Given the description of an element on the screen output the (x, y) to click on. 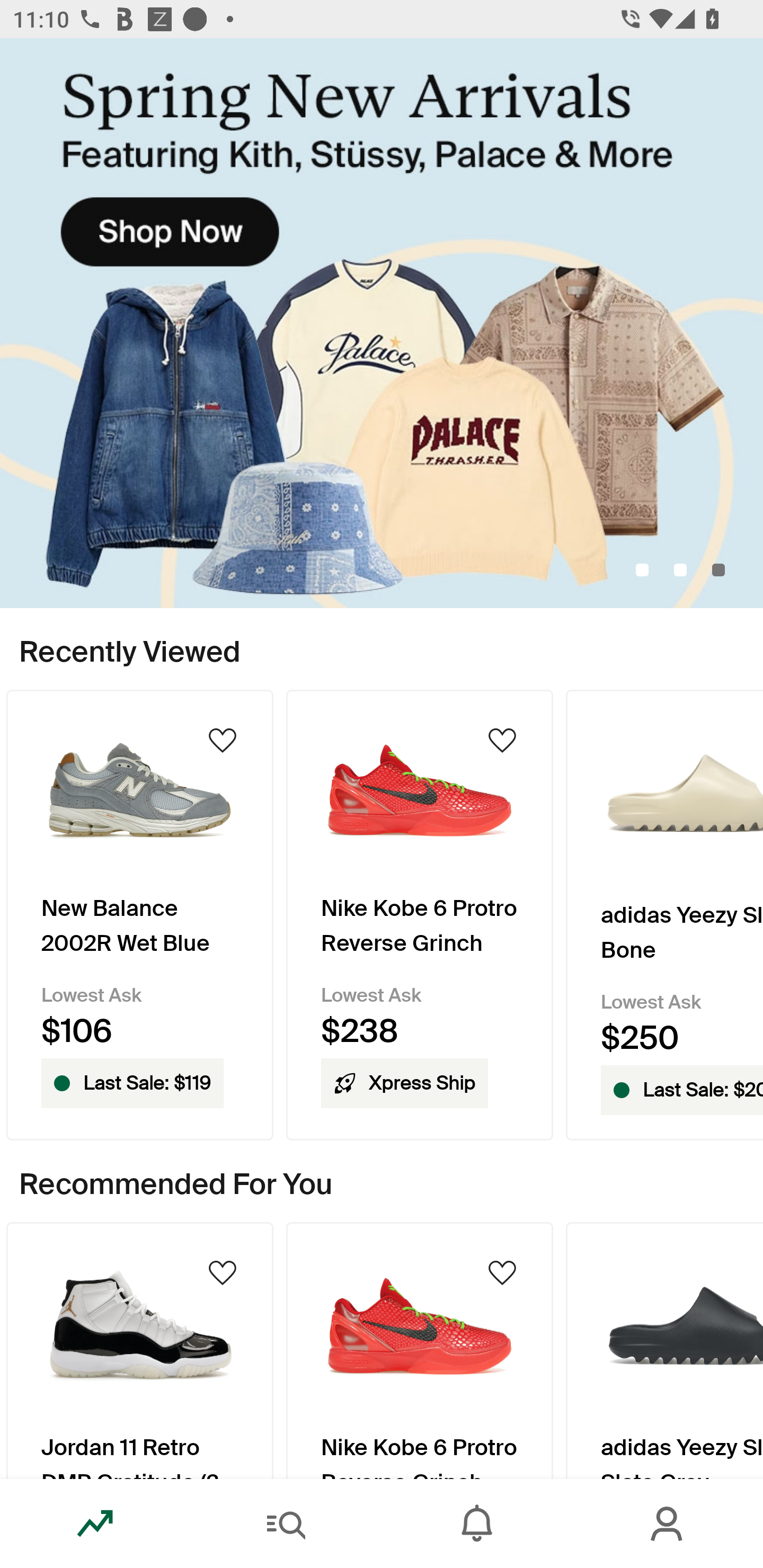
SpringNewArrivals-KithStussy_Primary_Mobile.jpg (381, 322)
Product Image Jordan 11 Retro DMP Gratitude (2023) (139, 1349)
Product Image Nike Kobe 6 Protro Reverse Grinch (419, 1349)
Product Image adidas Yeezy Slide Slate Grey (664, 1349)
Search (285, 1523)
Inbox (476, 1523)
Account (667, 1523)
